Given the description of an element on the screen output the (x, y) to click on. 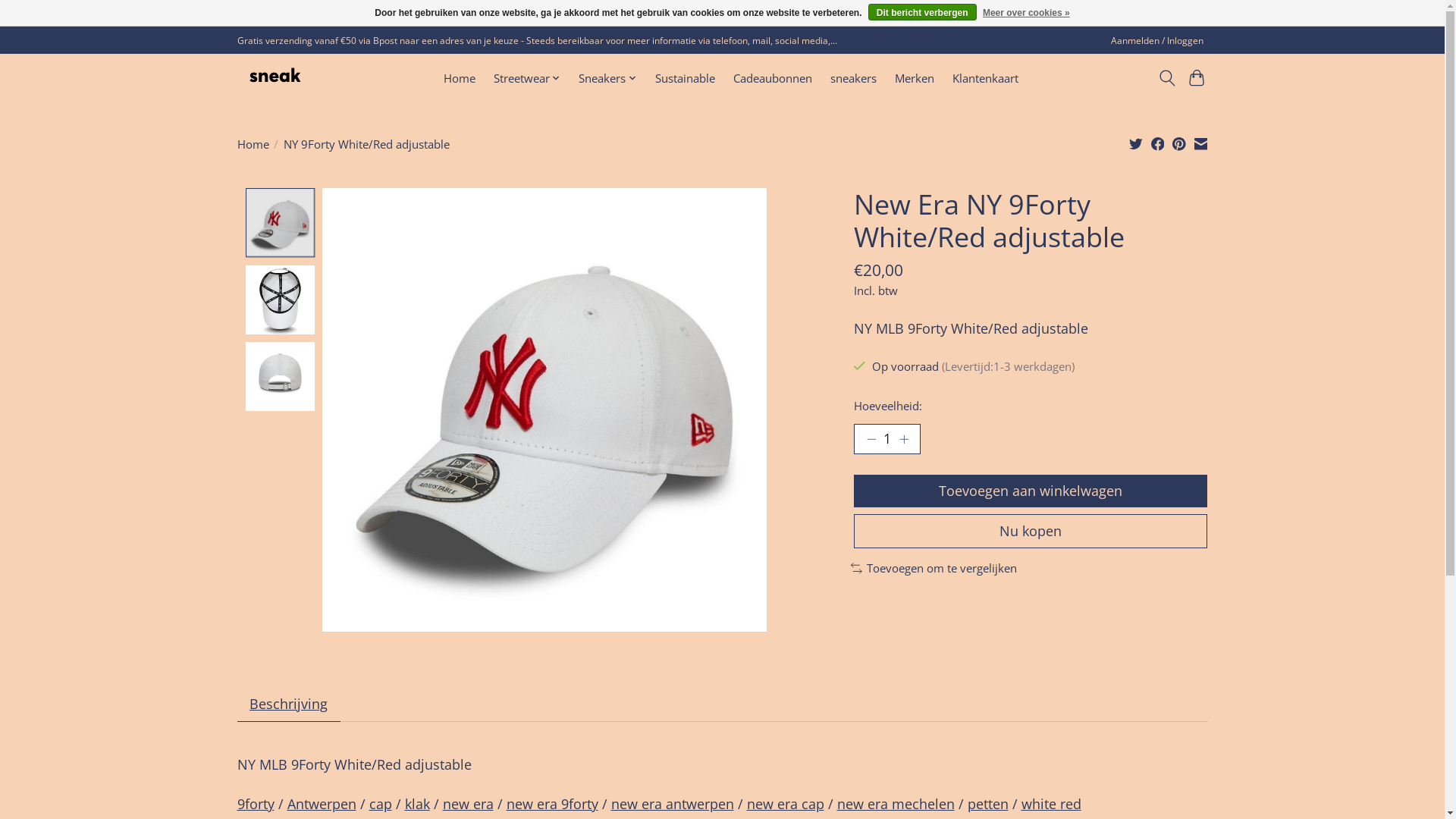
petten Element type: text (987, 803)
Online sneakers en streetwear I sneak webshop Element type: hover (274, 78)
Sustainable Element type: text (684, 78)
new era mechelen Element type: text (895, 803)
Cadeaubonnen Element type: text (772, 78)
Klantenkaart Element type: text (985, 78)
Home Element type: text (458, 78)
Merken Element type: text (914, 78)
Sneakers Element type: text (607, 78)
Streetwear Element type: text (527, 78)
Dit bericht verbergen Element type: text (922, 11)
Nu kopen Element type: text (1030, 531)
new era 9forty Element type: text (552, 803)
Toevoegen om te vergelijken Element type: text (933, 567)
Antwerpen Element type: text (320, 803)
new era Element type: text (467, 803)
Toevoegen aan winkelwagen Element type: text (1030, 490)
Home Element type: text (252, 143)
new era cap Element type: text (784, 803)
sneakers Element type: text (853, 78)
Aanmelden / Inloggen Element type: text (1156, 40)
klak Element type: text (416, 803)
Beschrijving Element type: text (287, 703)
new era antwerpen Element type: text (672, 803)
9forty Element type: text (254, 803)
white red Element type: text (1050, 803)
cap Element type: text (379, 803)
